Given the description of an element on the screen output the (x, y) to click on. 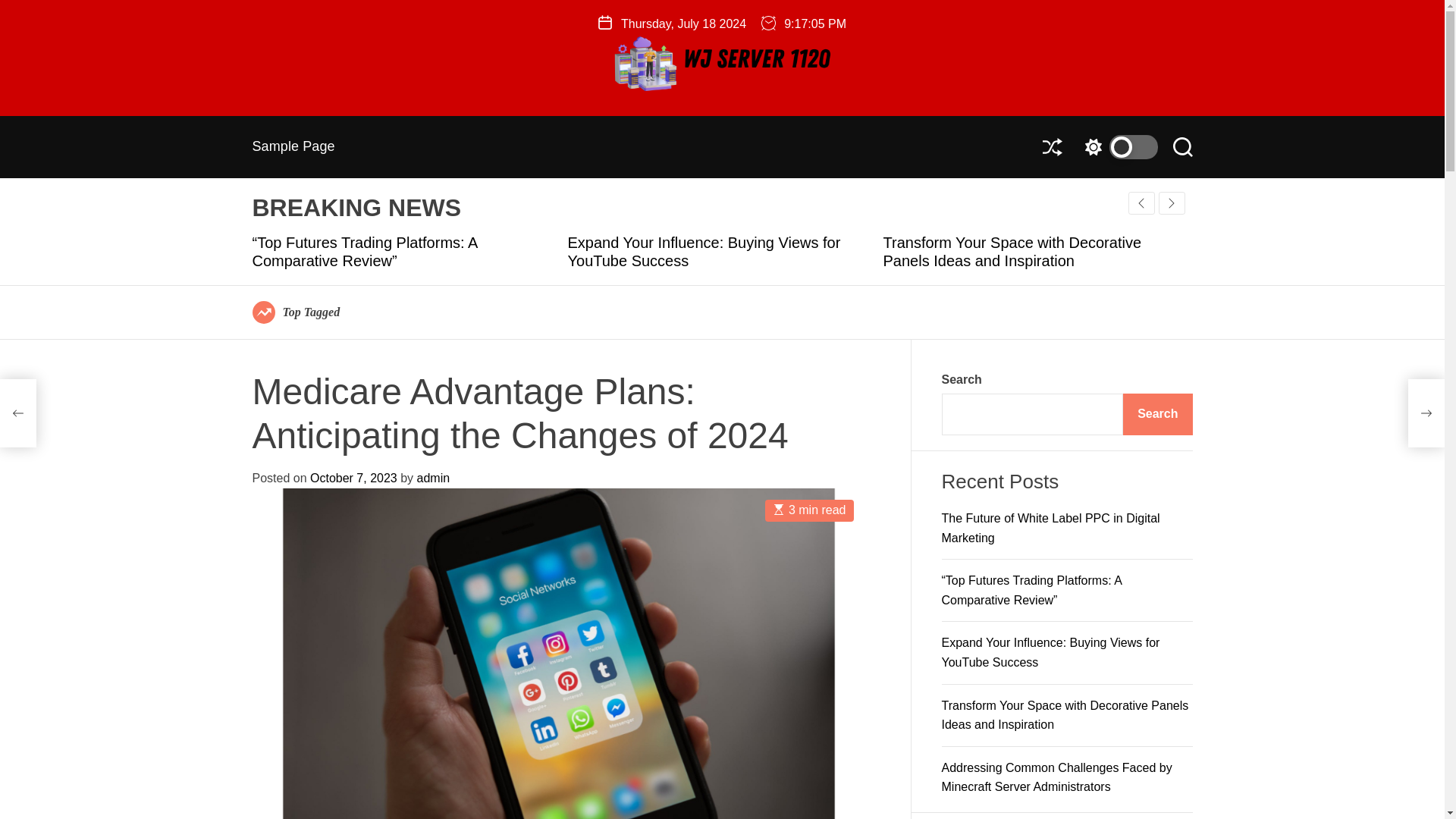
Expand Your Influence: Buying Views for YouTube Success (1051, 652)
Shuffle (1051, 146)
October 7, 2023 (353, 477)
Search (1182, 146)
Switch color mode (1117, 146)
The Future of White Label PPC in Digital Marketing (1051, 527)
Search (1157, 413)
Sample Page (292, 146)
Expand Your Influence: Buying Views for YouTube Success (703, 251)
admin (432, 477)
